Given the description of an element on the screen output the (x, y) to click on. 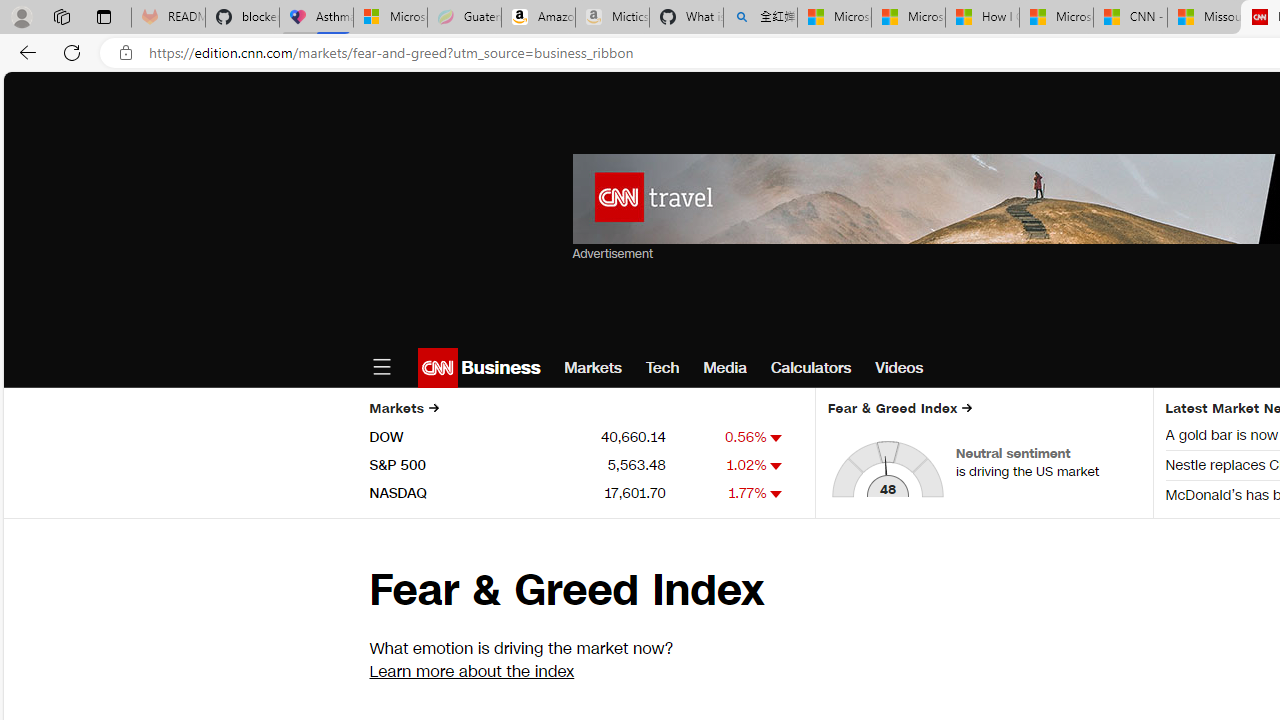
Learn more about the index (471, 671)
Business (498, 367)
